Given the description of an element on the screen output the (x, y) to click on. 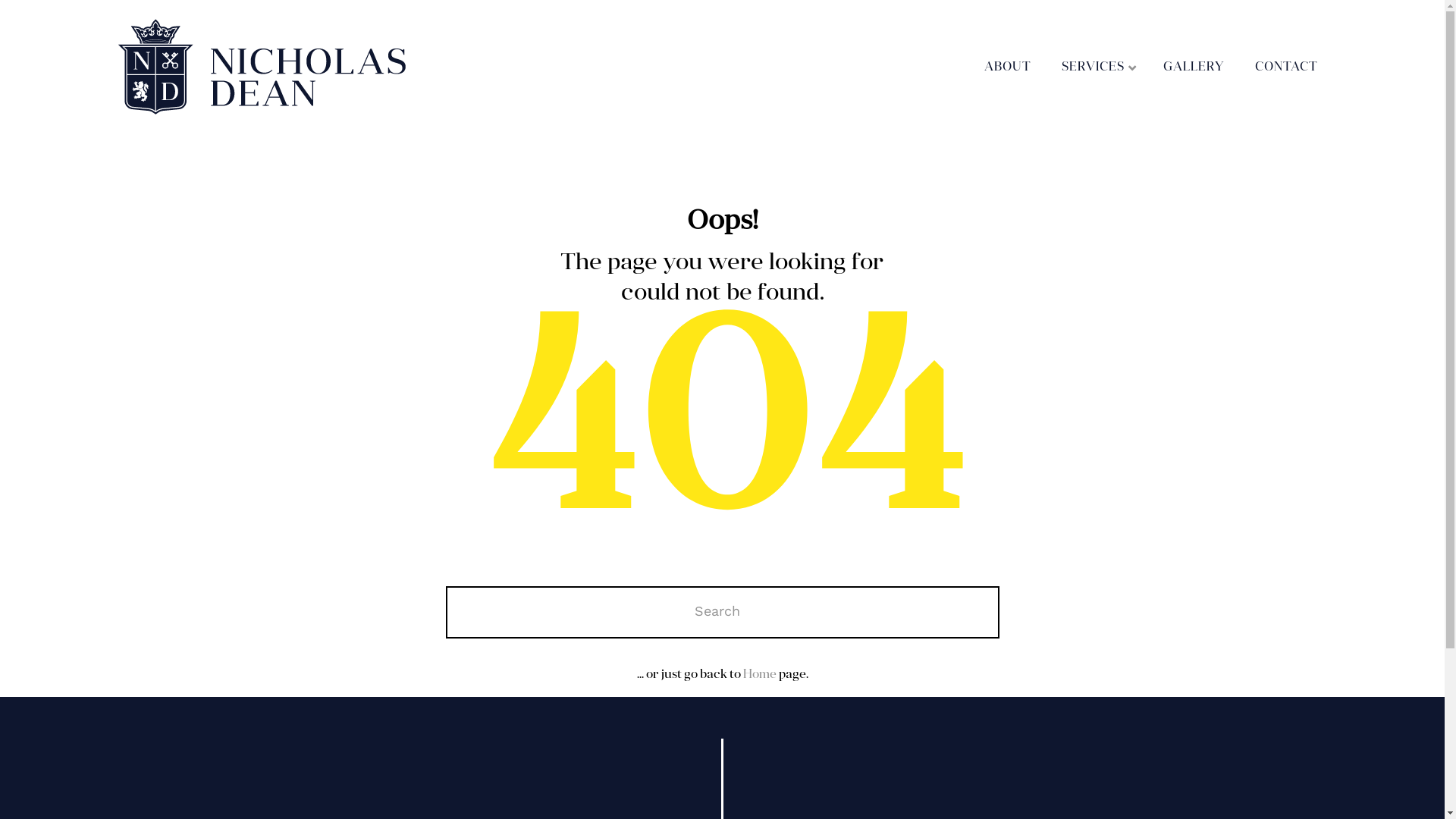
GALLERY Element type: text (1193, 67)
CONTACT Element type: text (1286, 67)
Home Element type: text (759, 674)
Search for: Element type: hover (722, 612)
+
SERVICES Element type: text (1100, 67)
ABOUT Element type: text (1006, 67)
